Given the description of an element on the screen output the (x, y) to click on. 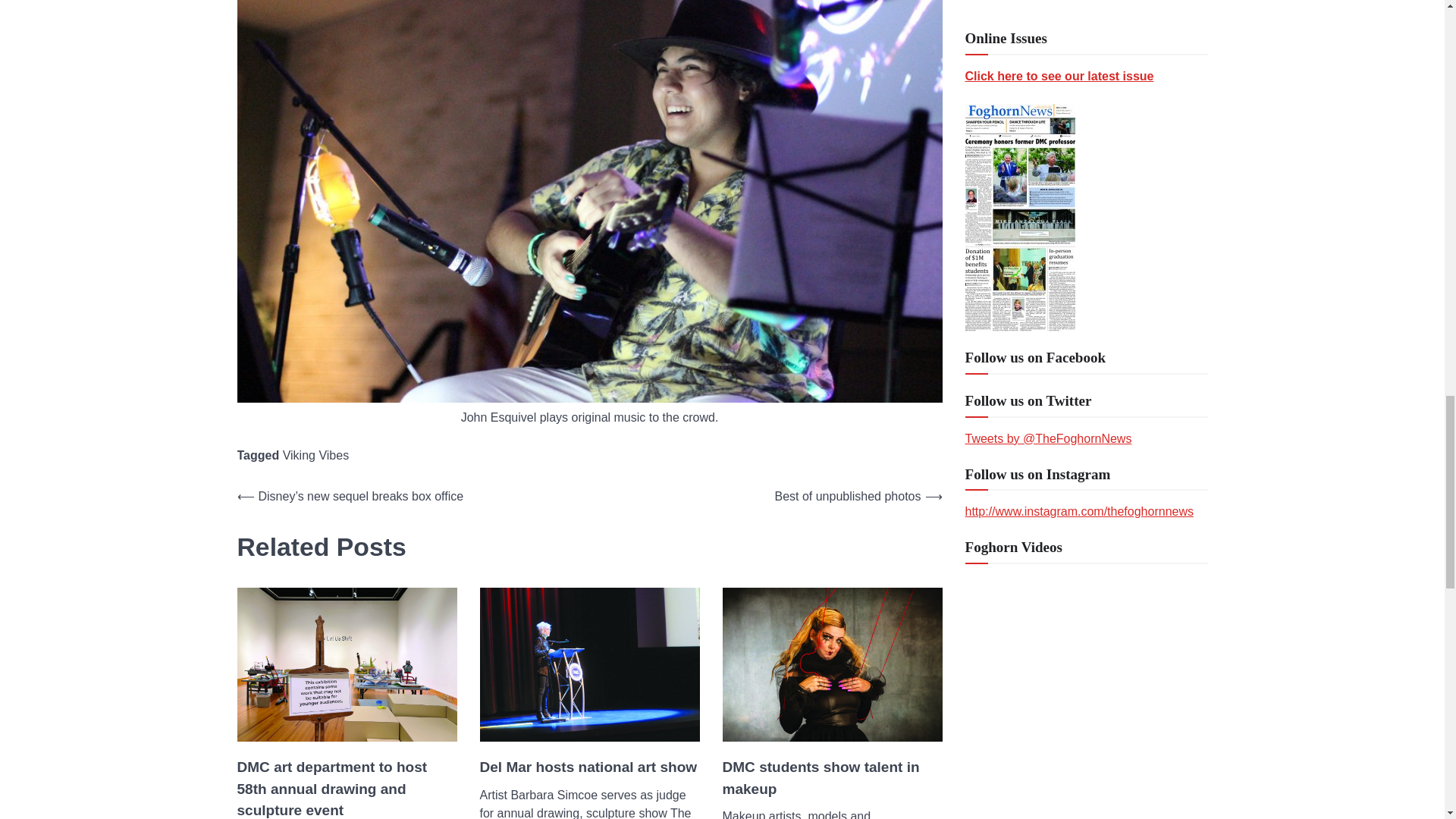
Del Mar hosts national art show (588, 767)
Viking Vibes (315, 454)
DMC students show talent in makeup (832, 778)
